Given the description of an element on the screen output the (x, y) to click on. 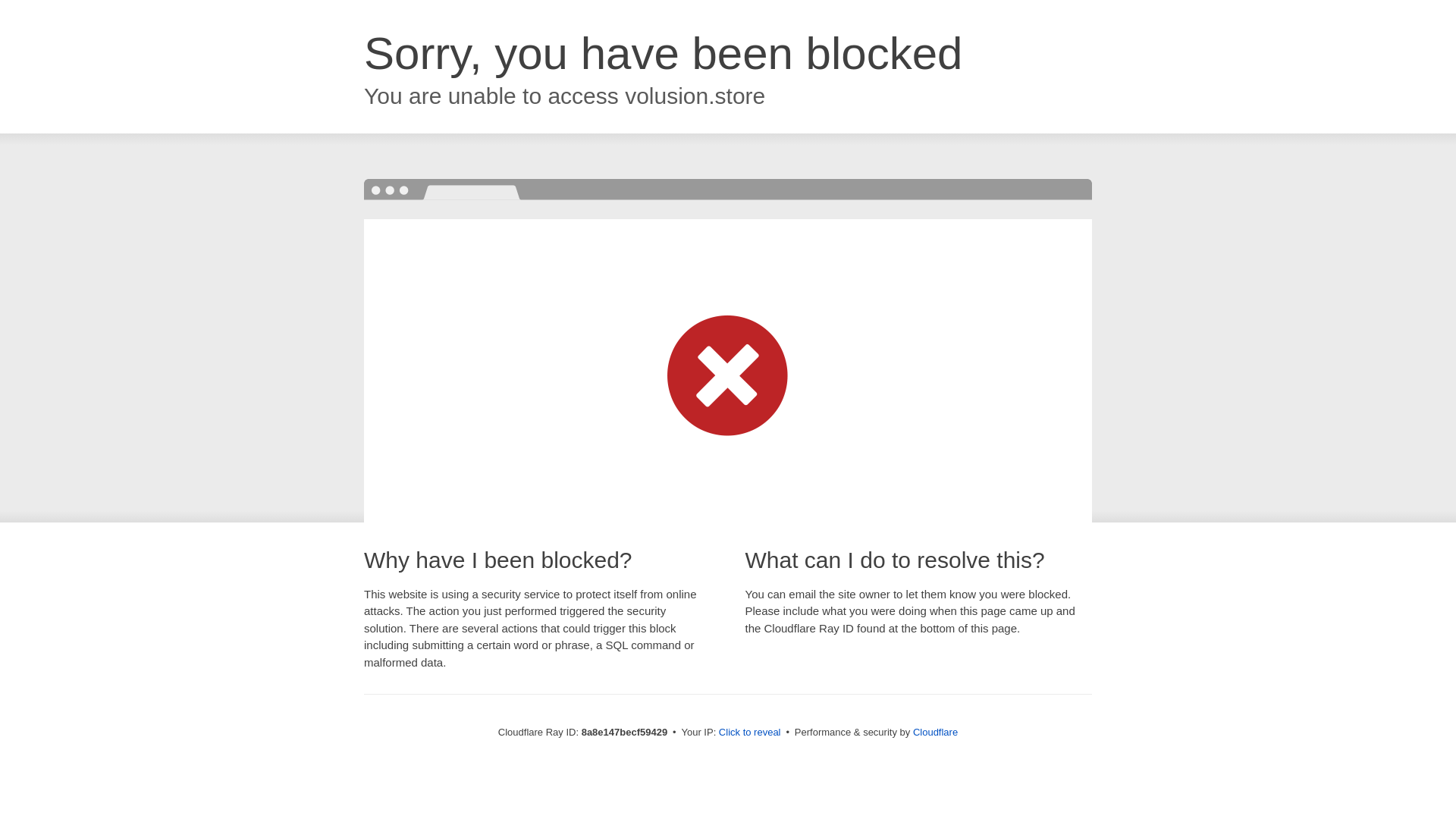
Click to reveal (749, 732)
Cloudflare (935, 731)
